Given the description of an element on the screen output the (x, y) to click on. 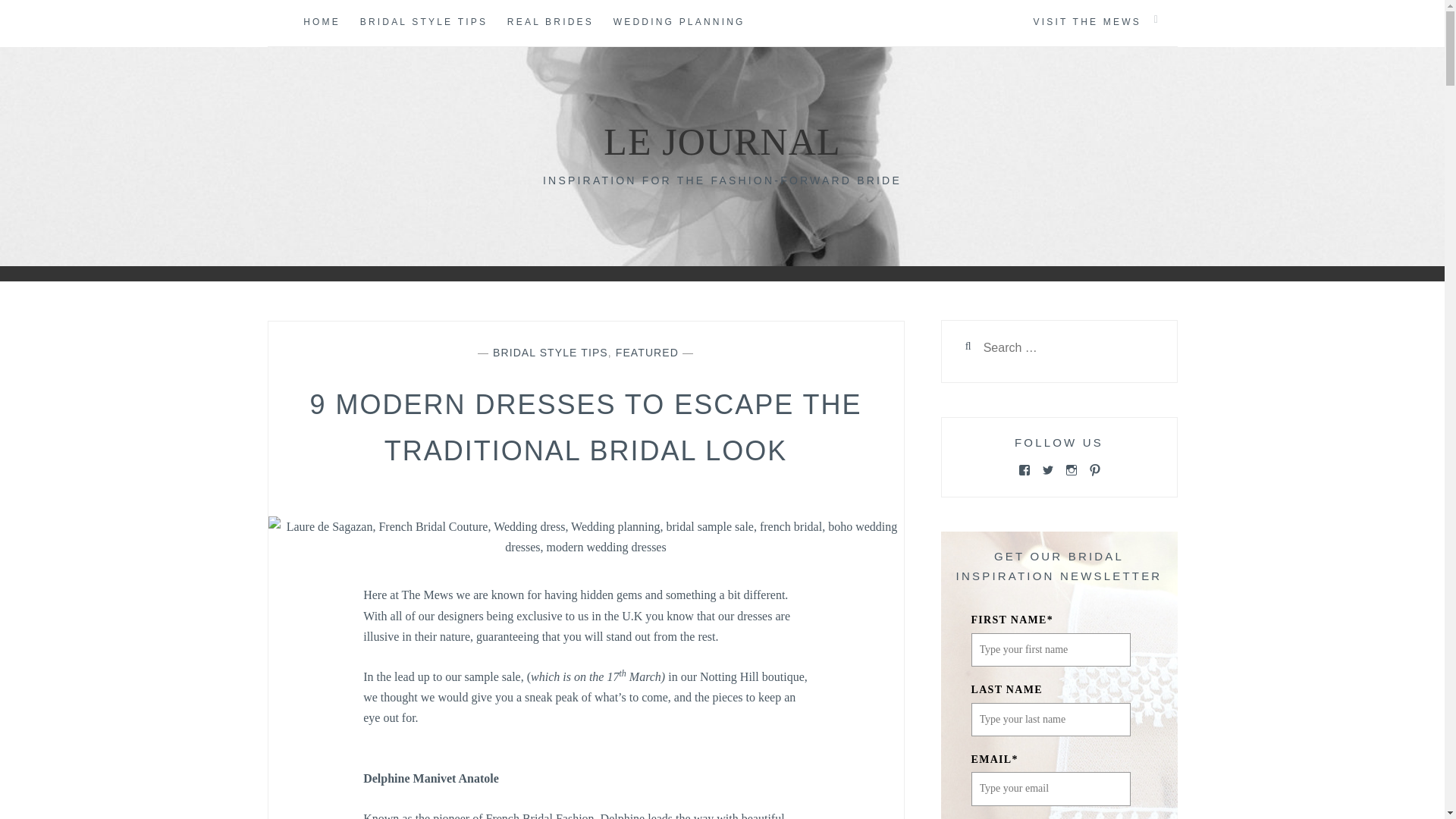
HOME (321, 22)
LE JOURNAL (722, 141)
Search (42, 19)
VISIT THE MEWS (1086, 22)
REAL BRIDES (550, 22)
BRIDAL STYLE TIPS (550, 352)
BRIDAL STYLE TIPS (423, 22)
WEDDING PLANNING (678, 22)
FEATURED (646, 352)
